Given the description of an element on the screen output the (x, y) to click on. 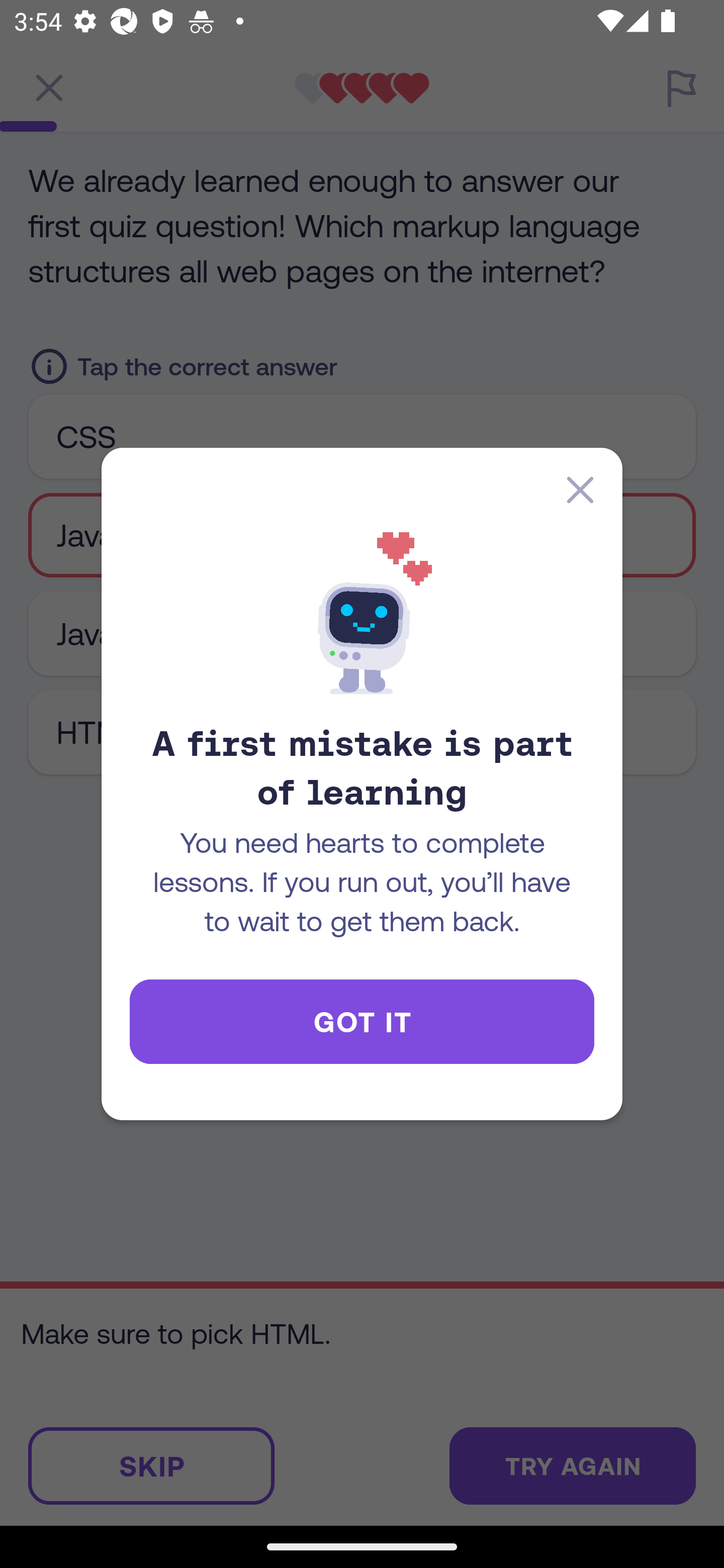
GOT IT (361, 1022)
